Given the description of an element on the screen output the (x, y) to click on. 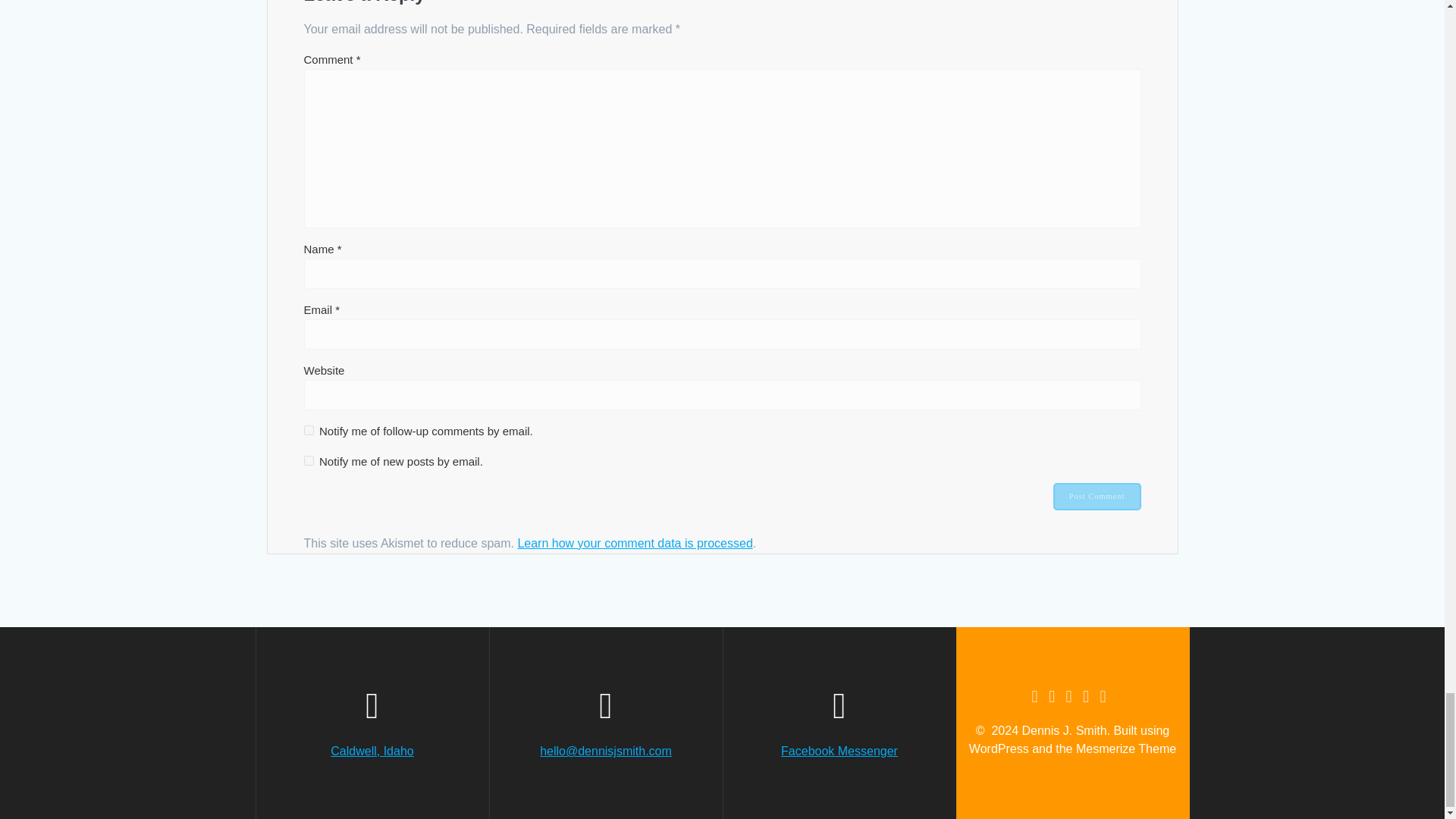
Post Comment (1096, 496)
subscribe (307, 460)
subscribe (307, 429)
